Given the description of an element on the screen output the (x, y) to click on. 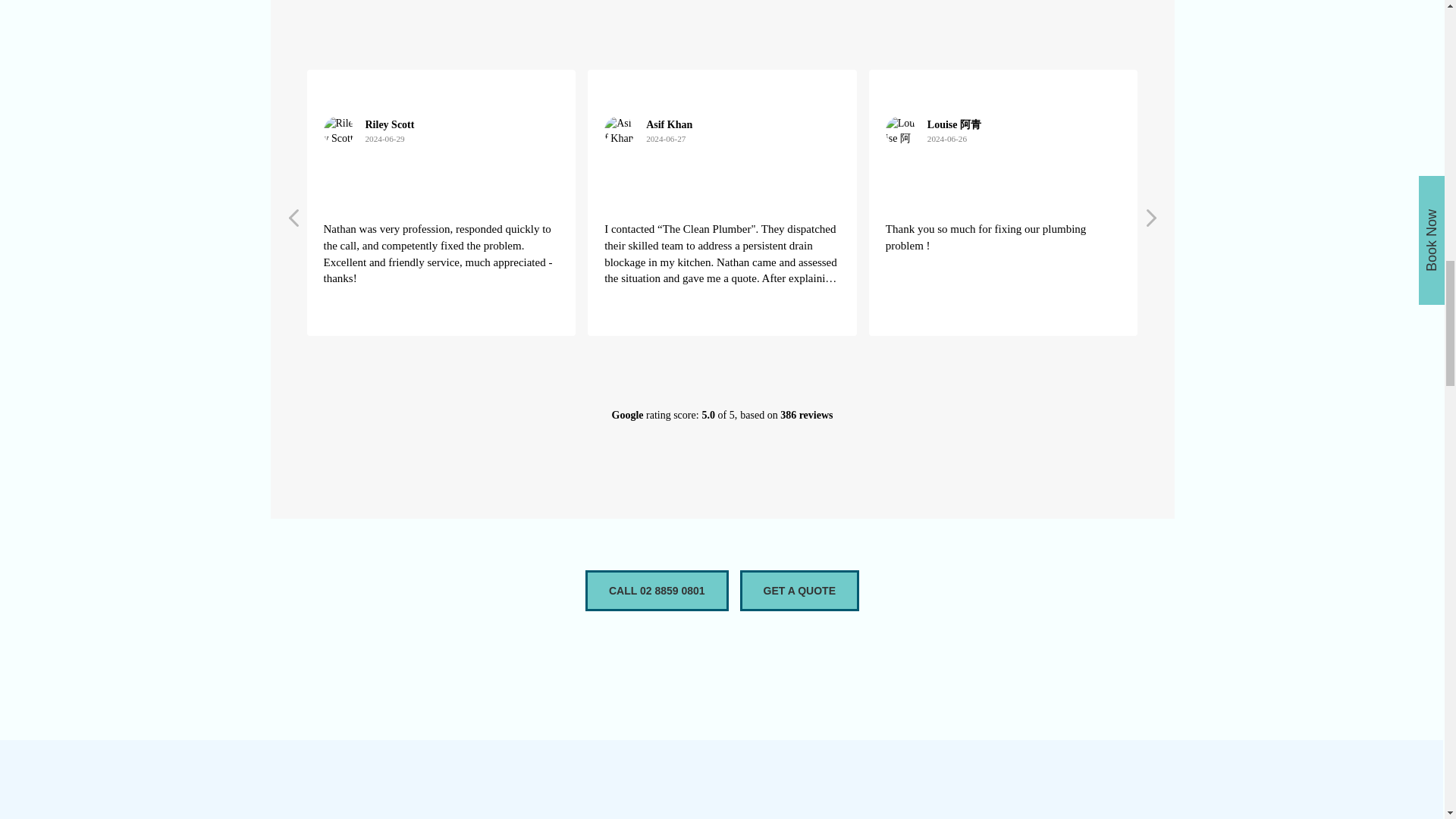
CALL 02 8859 0801 (657, 590)
Get a quote (799, 590)
GET A QUOTE (799, 590)
Call now (657, 590)
